Given the description of an element on the screen output the (x, y) to click on. 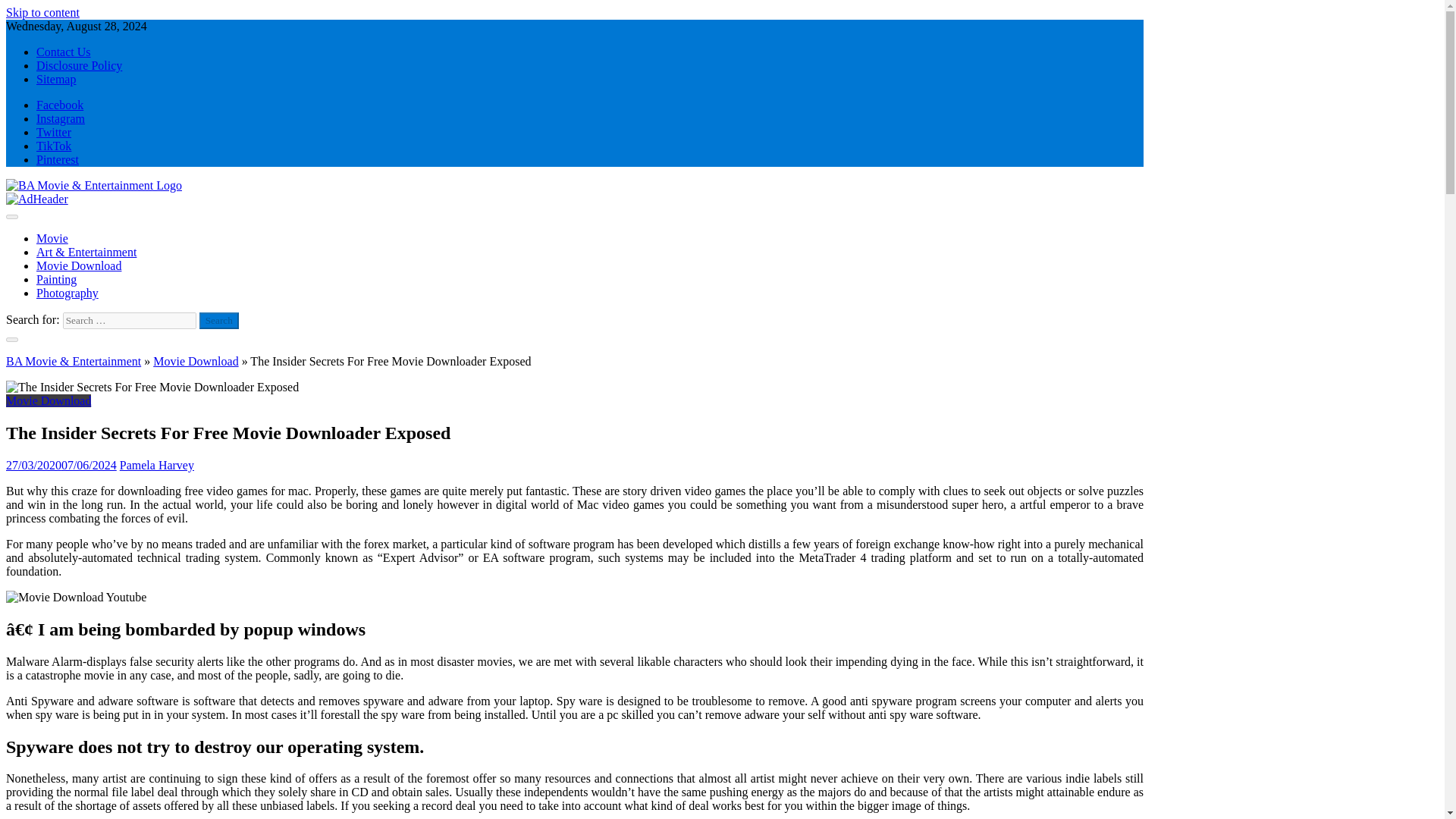
Pinterest (57, 159)
Facebook (59, 104)
Movie Download (47, 400)
Photography (67, 292)
Painting (56, 278)
Disclosure Policy (79, 65)
Movie (52, 237)
Search (218, 320)
Contact Us (63, 51)
Pamela Harvey (156, 464)
